Given the description of an element on the screen output the (x, y) to click on. 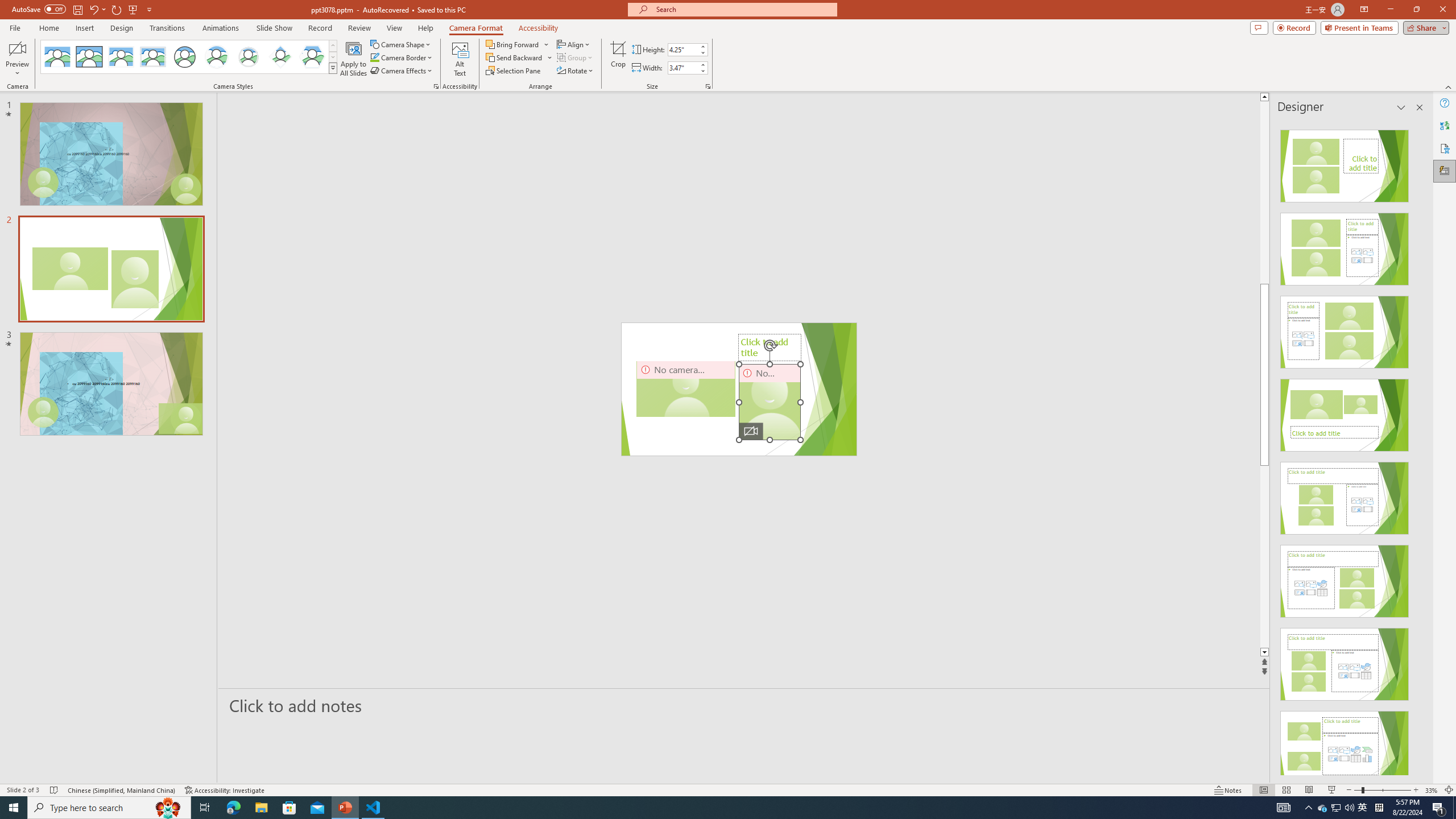
Center Shadow Diamond (280, 56)
Enable Camera Preview (17, 48)
Center Shadow Circle (216, 56)
Camera Effects (402, 69)
Camera Border (401, 56)
